Given the description of an element on the screen output the (x, y) to click on. 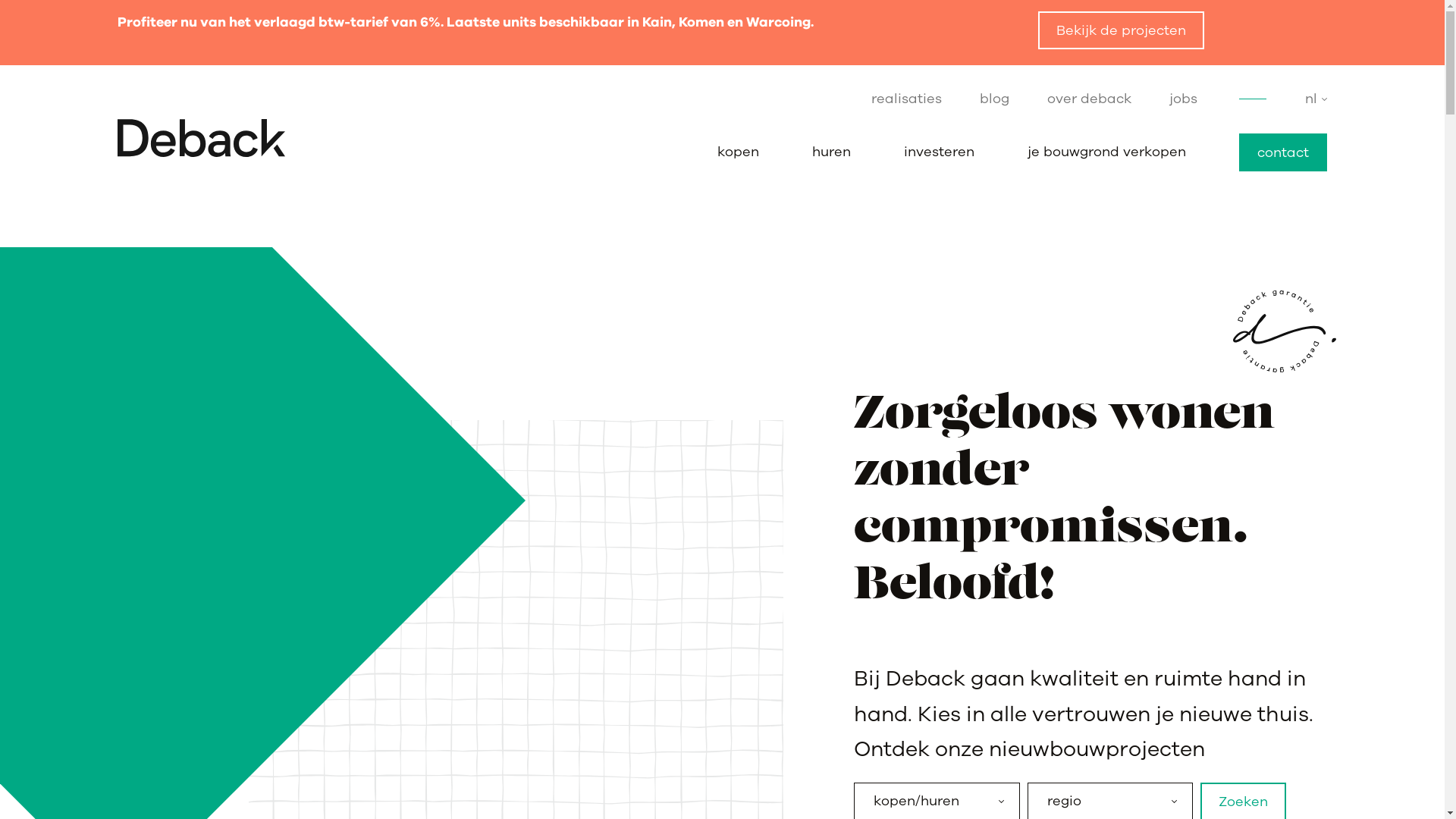
realisaties Element type: text (906, 98)
Bekijk de projecten Element type: text (1121, 30)
info@deback.be Element type: text (540, 610)
blog Element type: text (1082, 547)
jobs Element type: text (1183, 98)
web experience by
gbl Element type: text (1256, 779)
contact Element type: text (818, 623)
huren Element type: text (811, 547)
Disclaimer Element type: text (431, 779)
Deback Element type: text (174, 779)
investeren Element type: text (827, 573)
over deback Element type: text (1089, 98)
Overslaan en naar de inhoud gaan Element type: text (0, 0)
jobs Element type: text (1081, 598)
contact Element type: text (1283, 152)
kopen Element type: text (813, 521)
blog Element type: text (994, 98)
facebook Element type: text (492, 651)
huren Element type: text (831, 151)
investeren Element type: text (938, 151)
nl Element type: text (1316, 98)
Privacybeleid Element type: text (353, 779)
kopen Element type: text (738, 151)
je bouwgrond verkopen Element type: text (1106, 151)
Cookies Element type: text (494, 779)
realisaties Element type: text (1102, 521)
over deback Element type: text (1109, 573)
je bouwgrond verkopen Element type: text (871, 598)
+32 (0) 56 58 70 64 Element type: text (547, 587)
